Given the description of an element on the screen output the (x, y) to click on. 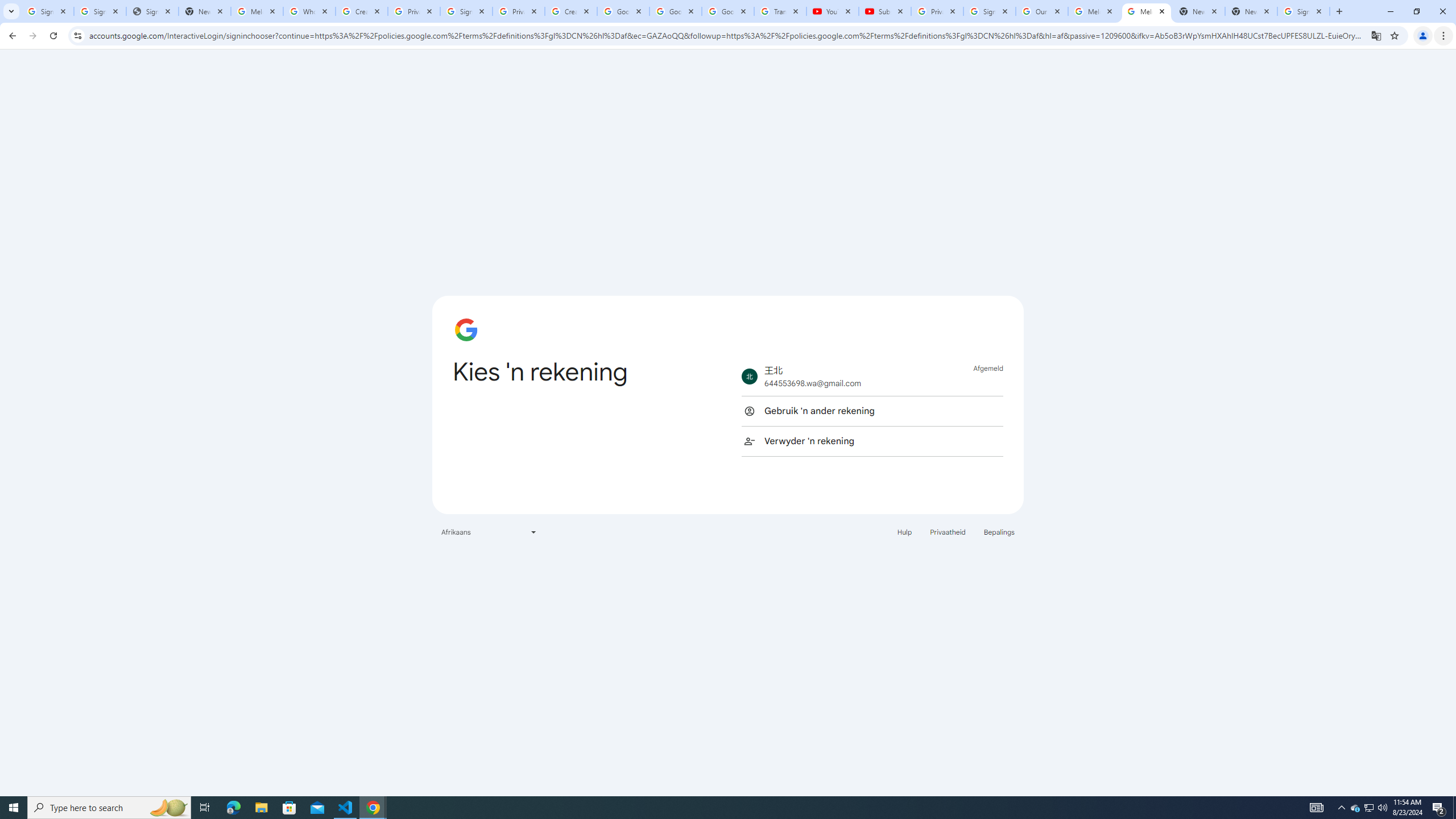
Sign in - Google Accounts (99, 11)
Sign in - Google Accounts (466, 11)
Google Account (727, 11)
Translate this page (1376, 35)
Sign In - USA TODAY (151, 11)
Create your Google Account (361, 11)
